Given the description of an element on the screen output the (x, y) to click on. 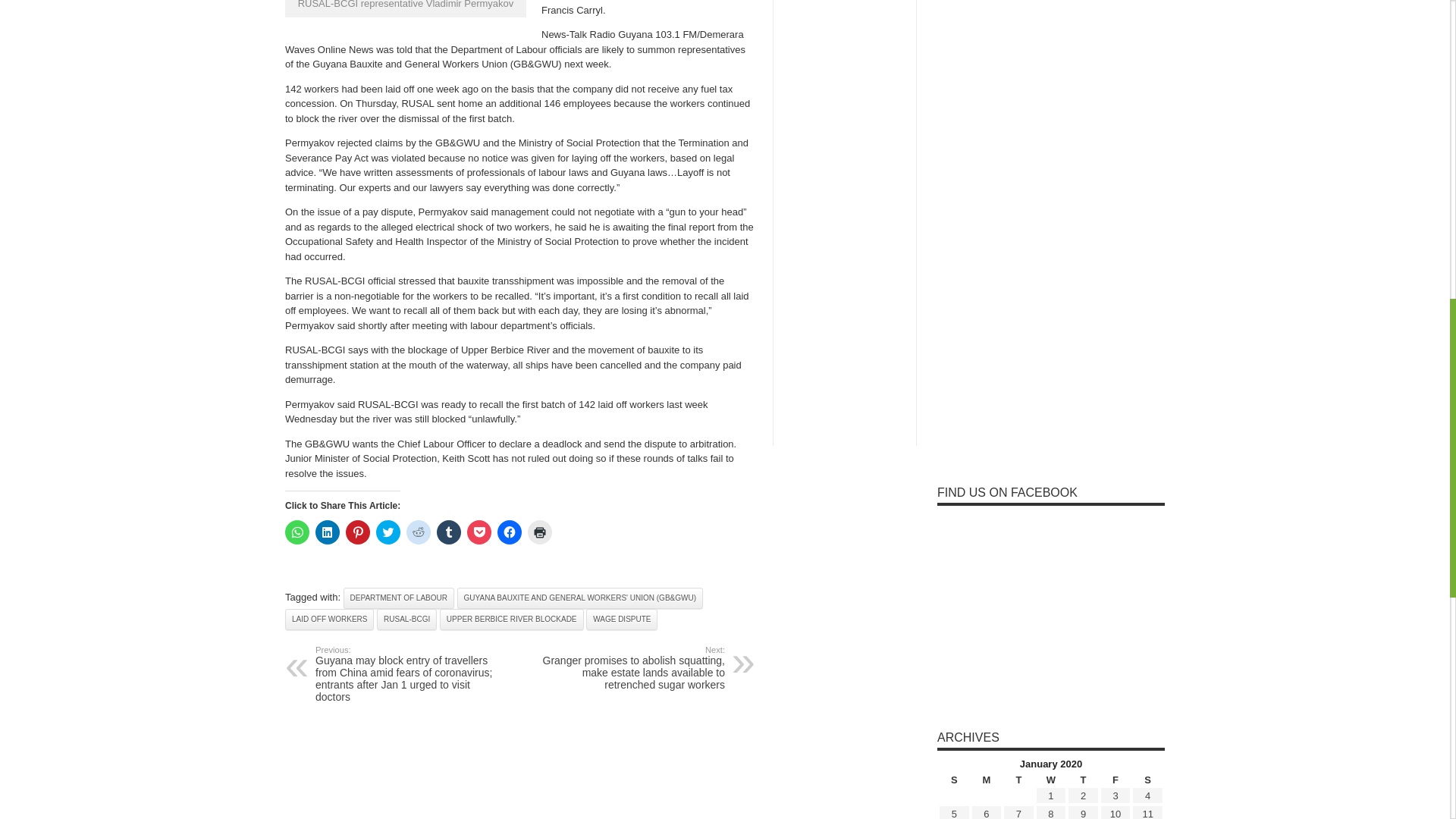
Click to share on WhatsApp (296, 532)
Click to print (539, 532)
Click to share on Pinterest (357, 532)
Click to share on Tumblr (448, 532)
Click to share on LinkedIn (327, 532)
Click to share on Pocket (479, 532)
Click to share on Reddit (418, 532)
Click to share on Twitter (387, 532)
Click to share on Facebook (509, 532)
